Given the description of an element on the screen output the (x, y) to click on. 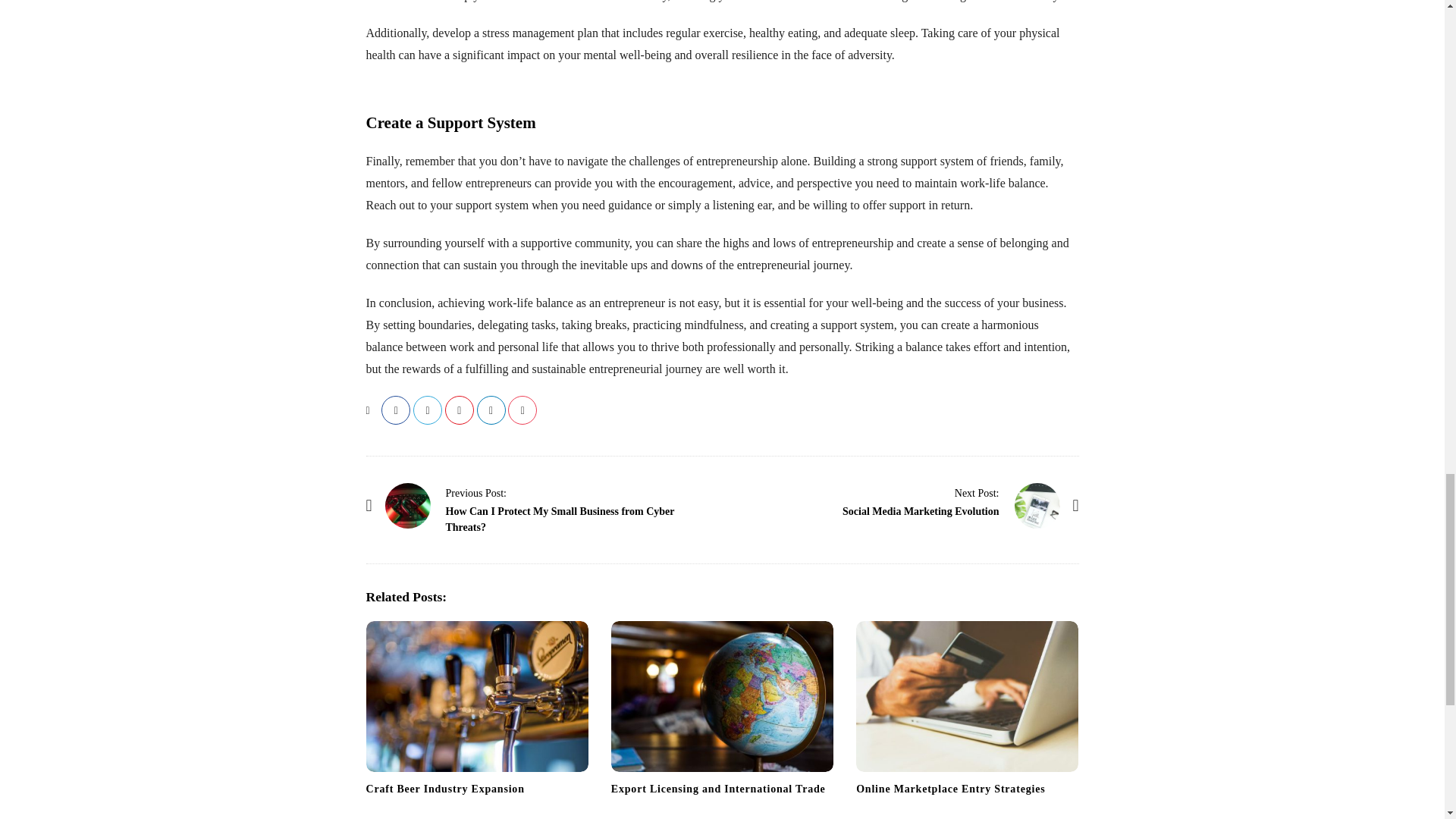
Export Licensing and International Trade (718, 788)
Social Media Marketing Evolution (976, 492)
Previous Post: (475, 492)
Craft Beer Industry Expansion (444, 788)
Export Licensing and International Trade (721, 696)
Online Marketplace Entry Strategies (950, 788)
How Can I Protect My Small Business from Cyber Threats? (475, 492)
Craft Beer Industry Expansion (476, 696)
Craft Beer Industry Expansion (444, 788)
Social Media Marketing Evolution (920, 511)
Export Licensing and International Trade (718, 788)
Online Marketplace Entry Strategies (950, 788)
How Can I Protect My Small Business from Cyber Threats? (407, 505)
Next Post: (976, 492)
How Can I Protect My Small Business from Cyber Threats? (560, 519)
